Given the description of an element on the screen output the (x, y) to click on. 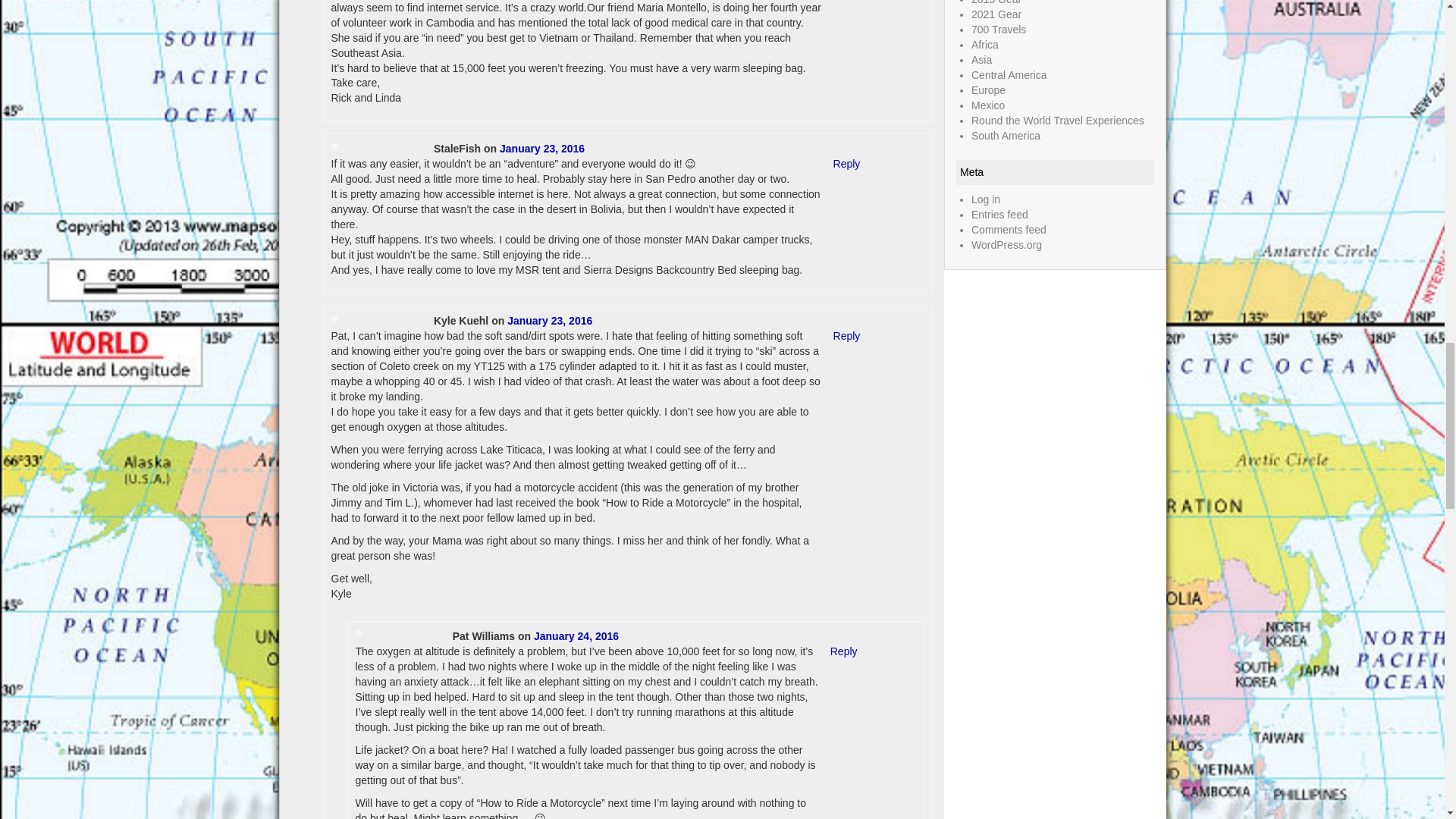
January 23, 2016 (549, 320)
Reply (846, 336)
Reply (843, 651)
January 23, 2016 (542, 148)
Reply (846, 163)
January 24, 2016 (576, 635)
